Given the description of an element on the screen output the (x, y) to click on. 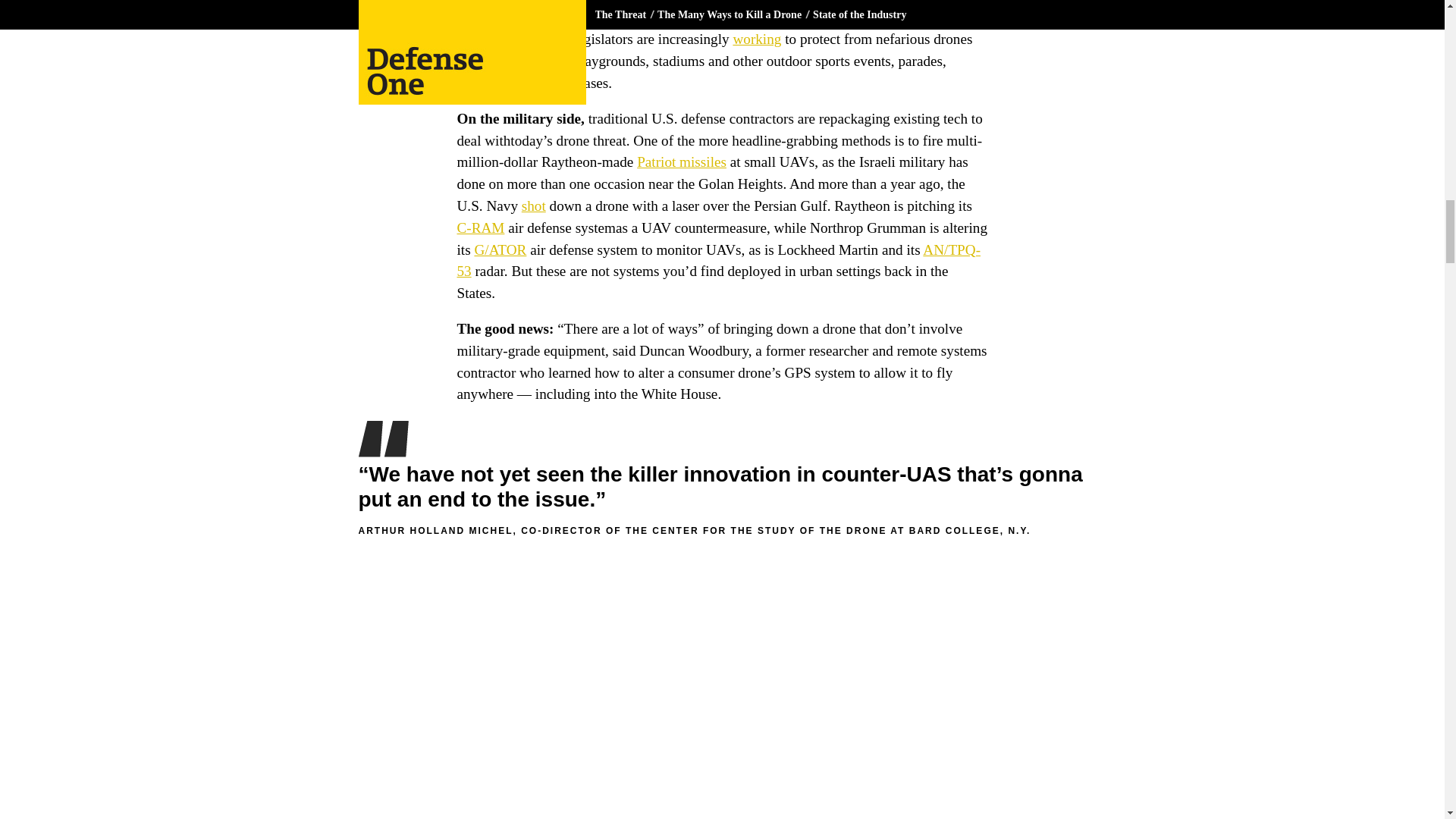
working (756, 38)
shot (533, 205)
C-RAM (480, 227)
Patriot missiles (681, 161)
